Given the description of an element on the screen output the (x, y) to click on. 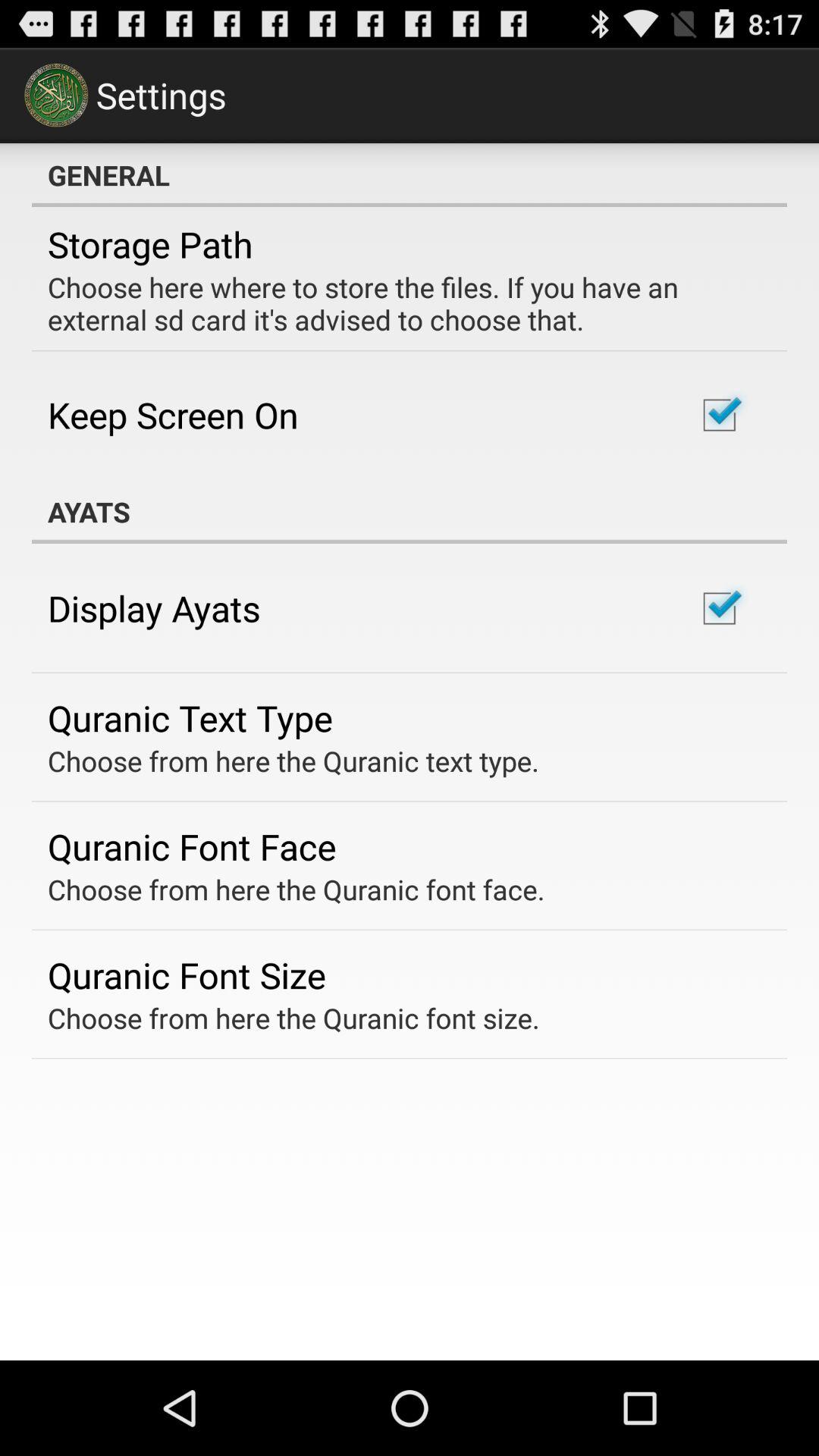
tap the general icon (409, 175)
